Given the description of an element on the screen output the (x, y) to click on. 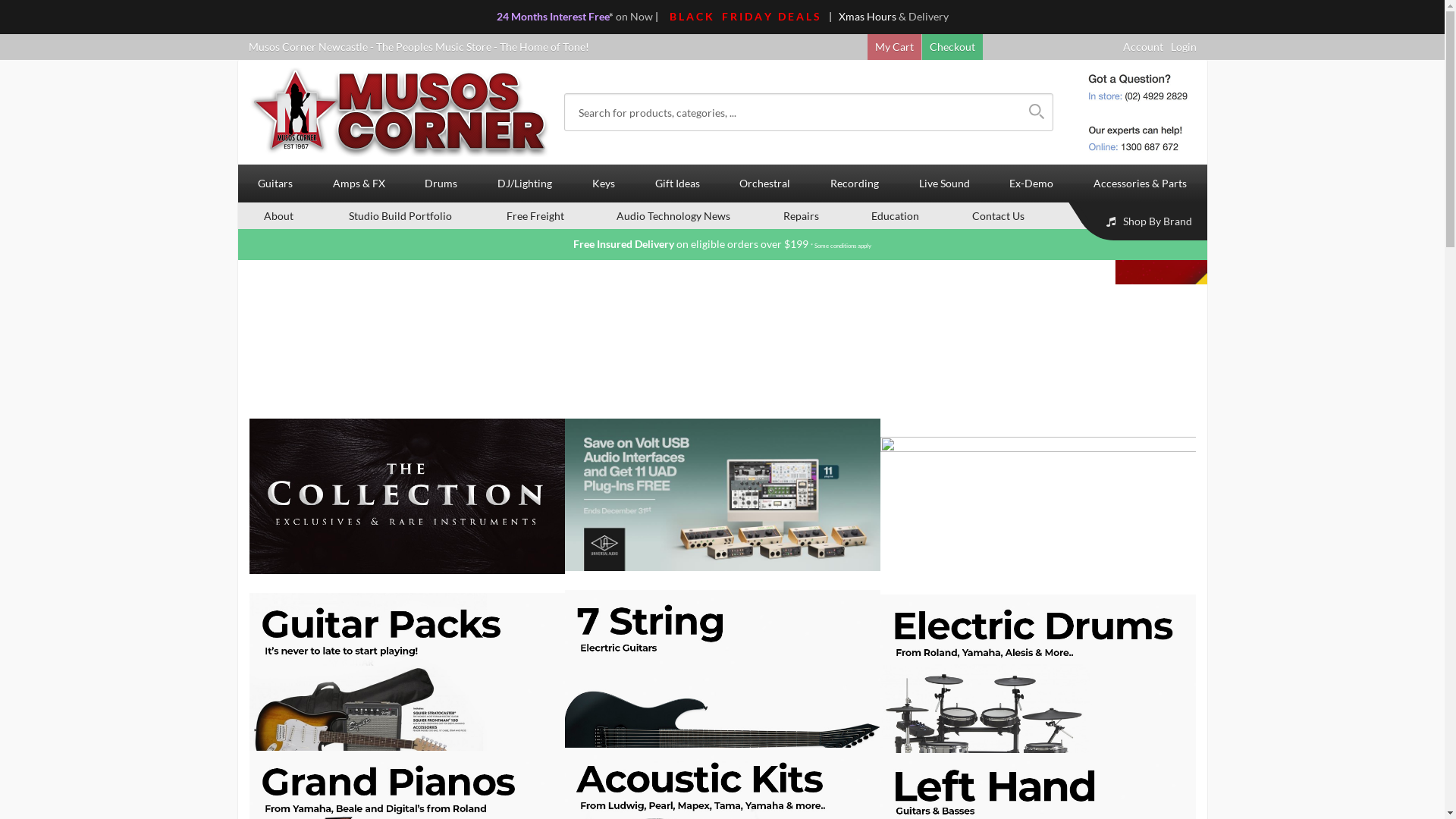
Sound Modules Element type: text (767, 191)
B L A C K    F R I D A Y   D E A L S Element type: text (743, 15)
Orchestral Element type: text (32, 447)
Harmonicas Element type: text (760, 485)
Electronic Drums & Percussion Element type: text (91, 64)
Gift Ideas Element type: text (29, 253)
Yamaha Orchestral Element type: text (776, 466)
Headphones Element type: text (46, 641)
Gongs Element type: text (746, 64)
Contact Us Element type: text (998, 215)
Repairs Element type: text (801, 215)
Live Sound Element type: text (943, 183)
Gifts Under $99 Element type: text (768, 347)
Gifts For Guitarists Element type: text (62, 291)
Gift Vouchers Element type: text (49, 272)
Microphones Element type: text (48, 622)
Midi Control Keyboards Element type: text (788, 641)
Gifts for Drummers Element type: text (63, 421)
Gifts for Film Makers Element type: text (781, 272)
About Element type: text (278, 215)
Amps & FX Element type: text (358, 183)
Account Element type: text (1142, 46)
Rack Effects & Preamps Element type: text (72, 677)
Cymbals Element type: text (37, 101)
Control Surfaces Element type: text (771, 659)
Gifts for DJ's Element type: text (762, 310)
Drums Element type: text (23, 26)
Practice Chanters Element type: text (59, 540)
Interfaces Element type: text (40, 659)
Guitars Element type: text (275, 183)
Ex-Demo Element type: text (1031, 183)
Studio Build Portfolio Element type: text (399, 215)
Video Mixers/Switchers/Live Streaming Element type: text (824, 808)
Keyboard & Piano Accessories Element type: text (803, 209)
Marching Drums Element type: text (771, 521)
Gifts for Bassists Element type: text (56, 365)
Audio for Video Element type: text (769, 603)
Free Freight Element type: text (535, 215)
Midi Keyboards Element type: text (768, 228)
Gifts for Metal Heads Element type: text (67, 347)
Recorders Element type: text (41, 521)
Brass Element type: text (30, 466)
Gifts Under $29 Element type: text (54, 403)
Sound Cards Element type: text (47, 808)
Audio Technology News Element type: text (673, 215)
Gifts Under $49 Element type: text (768, 329)
Cameras Element type: text (752, 677)
Keys Element type: text (602, 183)
Working from Home Element type: text (780, 771)
Checkout Element type: text (952, 46)
Orchestral Element type: text (764, 183)
Gifts for Kids Element type: text (762, 365)
Acoustic Drums Element type: text (55, 45)
Hardware & Accessories Element type: text (75, 83)
Samplers and Sequencers Element type: text (790, 622)
Stringed Instruments Element type: text (780, 503)
Bags & Cases Element type: text (762, 45)
Hard Disk Recording Element type: text (780, 715)
Pianos Element type: text (33, 191)
Recording Element type: text (854, 183)
Gifts for Mum & Dad Element type: text (66, 310)
DJ/Lighting Element type: text (524, 183)
Xmas Hours Element type: text (867, 15)
Software Element type: text (38, 752)
Wind Element type: text (30, 485)
Ableton Controllers Element type: text (778, 752)
Login Element type: text (1183, 46)
Drums Element type: text (440, 183)
Apparel Element type: text (750, 403)
Shop By Brand Element type: text (1140, 221)
World Music Element type: text (762, 540)
Accessories Element type: text (759, 101)
Lifestyle Products Element type: text (773, 384)
My Cart Element type: text (894, 46)
Studio Packs Element type: text (47, 733)
Gifts for Keyboardists Element type: text (783, 291)
Percussion Element type: text (757, 83)
Accessories & Parts Element type: text (1140, 183)
Studio Consoles Element type: text (769, 733)
Clavinovas Element type: text (43, 228)
Drum Machines Element type: text (769, 696)
Lighting Element type: text (36, 146)
Recording Element type: text (31, 584)
Mouthpieces Element type: text (762, 559)
Gifts For Sound Guys & Roadies Element type: text (91, 384)
Musos Corner Element type: hover (400, 111)
Studio Monitors Element type: text (55, 771)
Gifts for Ukulele Element type: text (55, 329)
500 Series Element type: text (41, 603)
Education Element type: text (895, 215)
Portable Rehearsal Studio Element type: text (78, 715)
Horns Element type: text (32, 503)
DJ/Lighting Element type: text (34, 127)
Keys Element type: text (18, 171)
Gift Ideas Element type: text (676, 183)
Patchbays/Connectors/Splitters Element type: text (806, 790)
Studio Furniture Element type: text (56, 790)
Reeds Element type: text (31, 559)
24 Months Interest Free Element type: text (551, 15)
Pro Tools Element type: text (39, 696)
Keyboards Element type: text (42, 209)
DJ Gear Element type: text (750, 146)
